Given the description of an element on the screen output the (x, y) to click on. 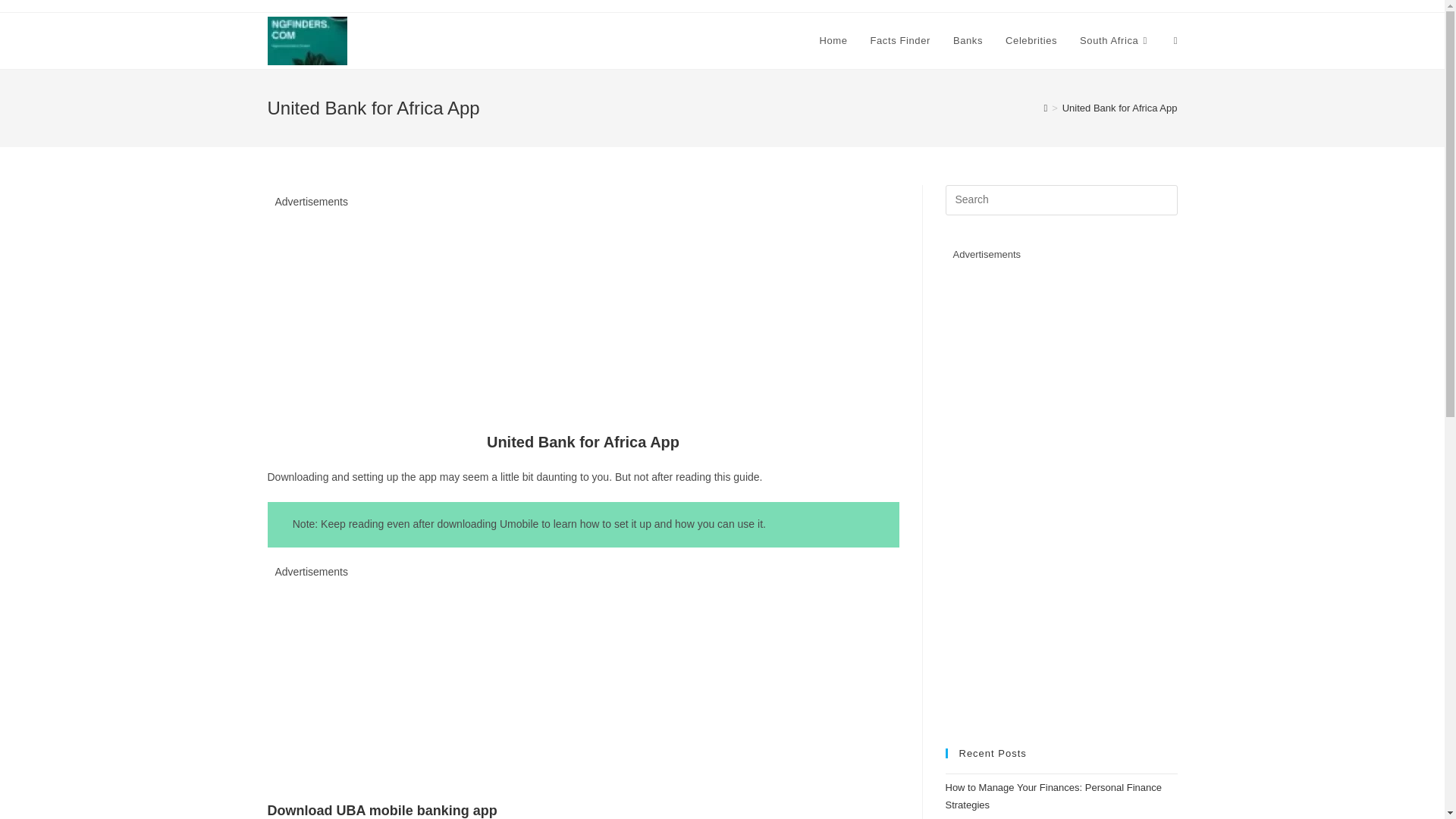
How to Manage Your Finances: Personal Finance Strategies (1052, 796)
Advertisement (583, 317)
Banks (968, 40)
Home (833, 40)
Advertisement (583, 687)
Facts Finder (899, 40)
United Bank for Africa App (1119, 107)
Celebrities (1031, 40)
South Africa (1114, 40)
